Given the description of an element on the screen output the (x, y) to click on. 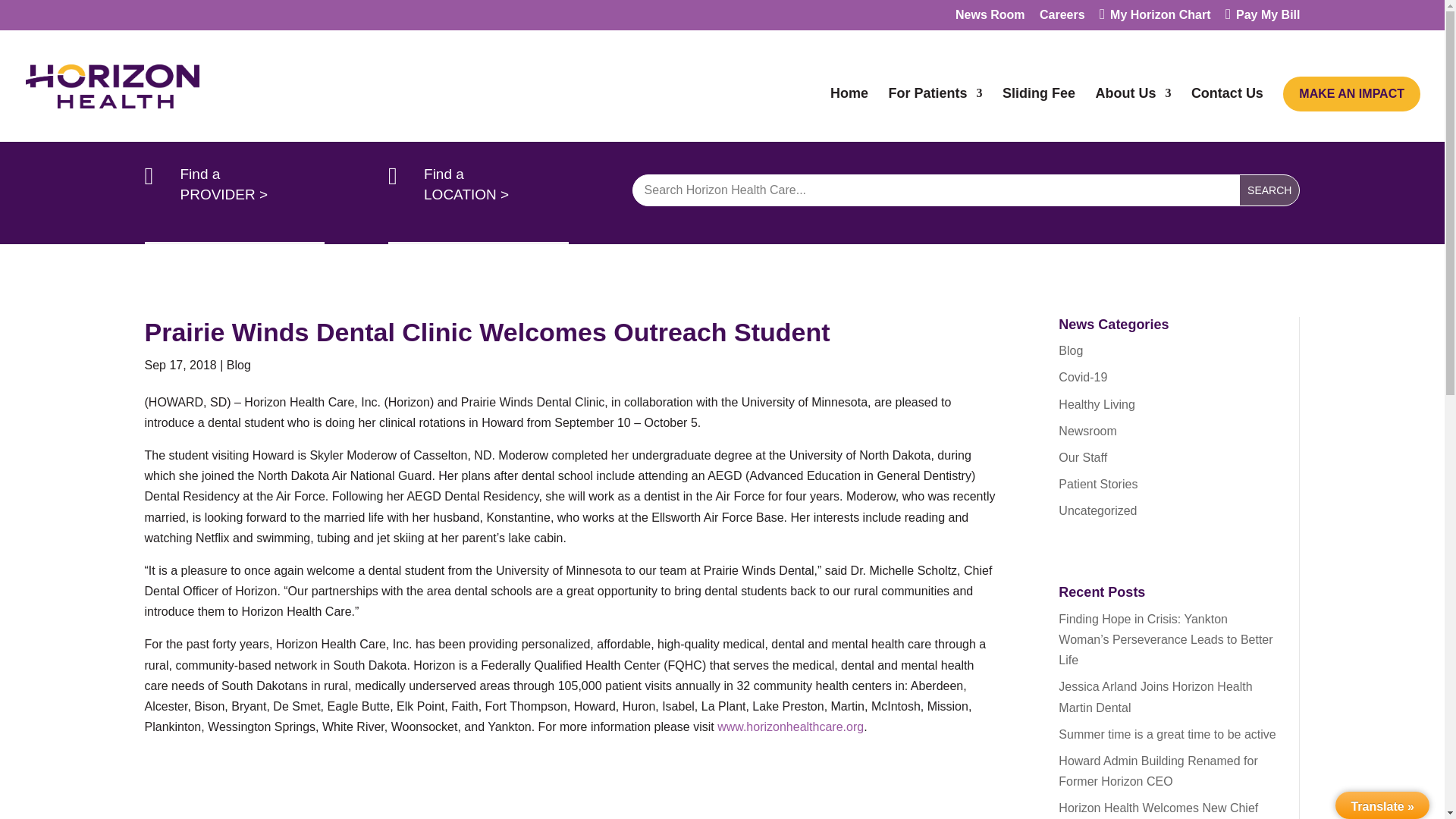
Sliding Fee (1039, 107)
Search (1269, 190)
Home (848, 107)
About Us (1132, 107)
My Horizon Chart (1154, 19)
Horizon (790, 726)
Search (1269, 190)
Pay My Bill (1262, 19)
News Room (990, 19)
Careers (1061, 19)
For Patients (934, 107)
